Given the description of an element on the screen output the (x, y) to click on. 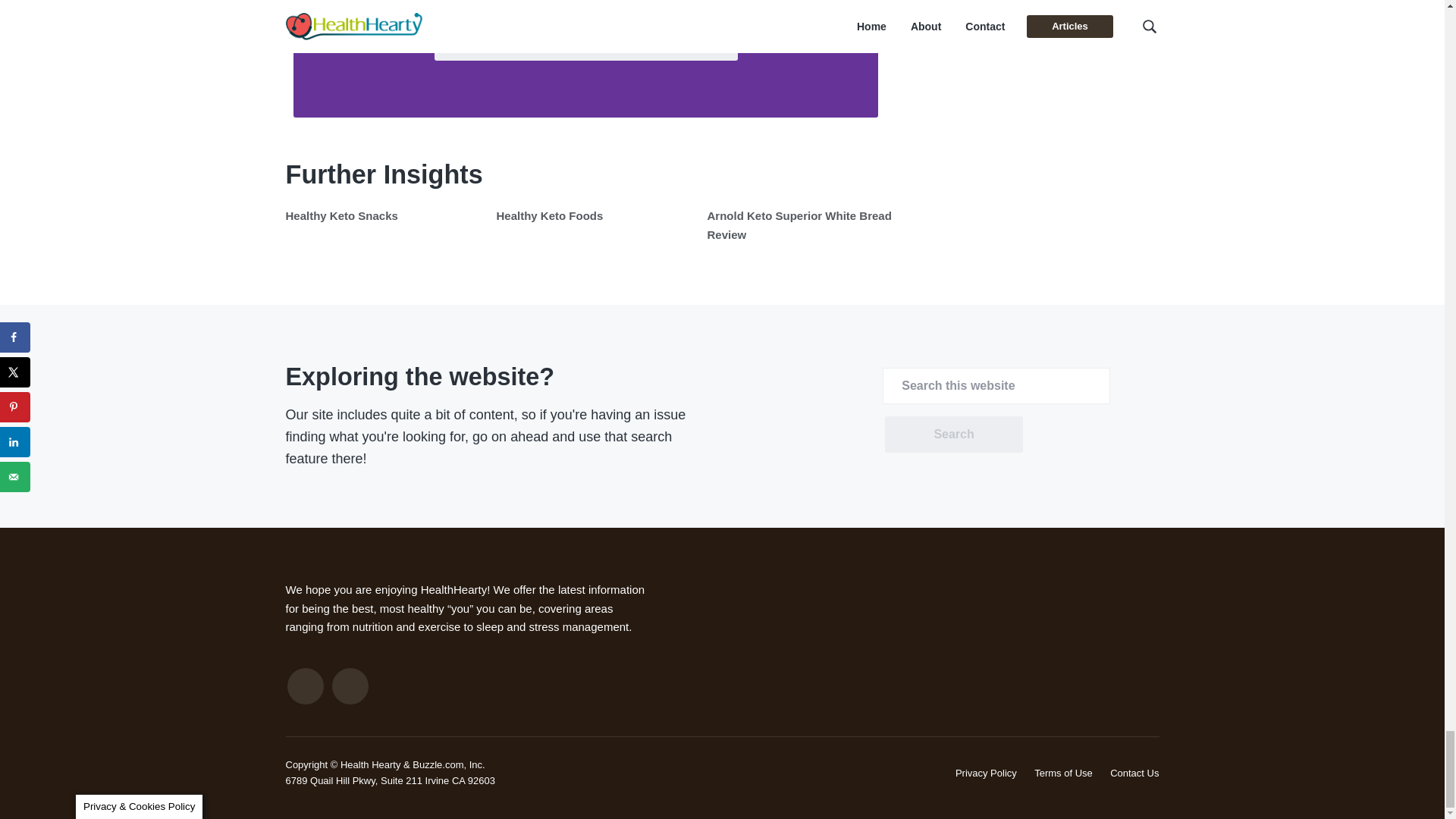
Search (953, 434)
Arnold Keto Superior White Bread Review (798, 224)
Privacy Policy (985, 772)
Healthy Keto Foods (549, 215)
Search (953, 434)
Search (953, 434)
Healthy Keto Snacks (341, 215)
